Given the description of an element on the screen output the (x, y) to click on. 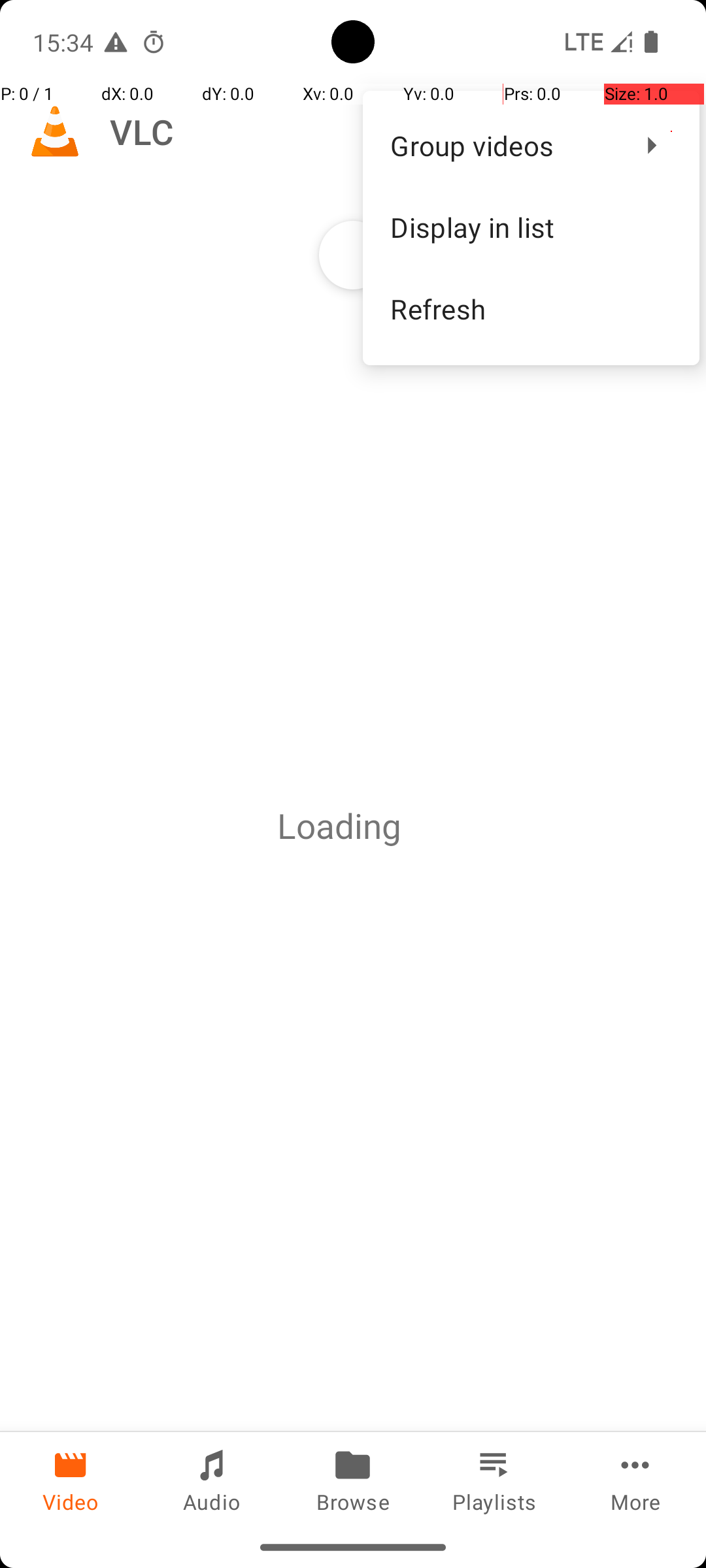
Group videos Element type: android.widget.TextView (503, 144)
Display in list Element type: android.widget.TextView (531, 226)
Refresh Element type: android.widget.TextView (531, 308)
